Given the description of an element on the screen output the (x, y) to click on. 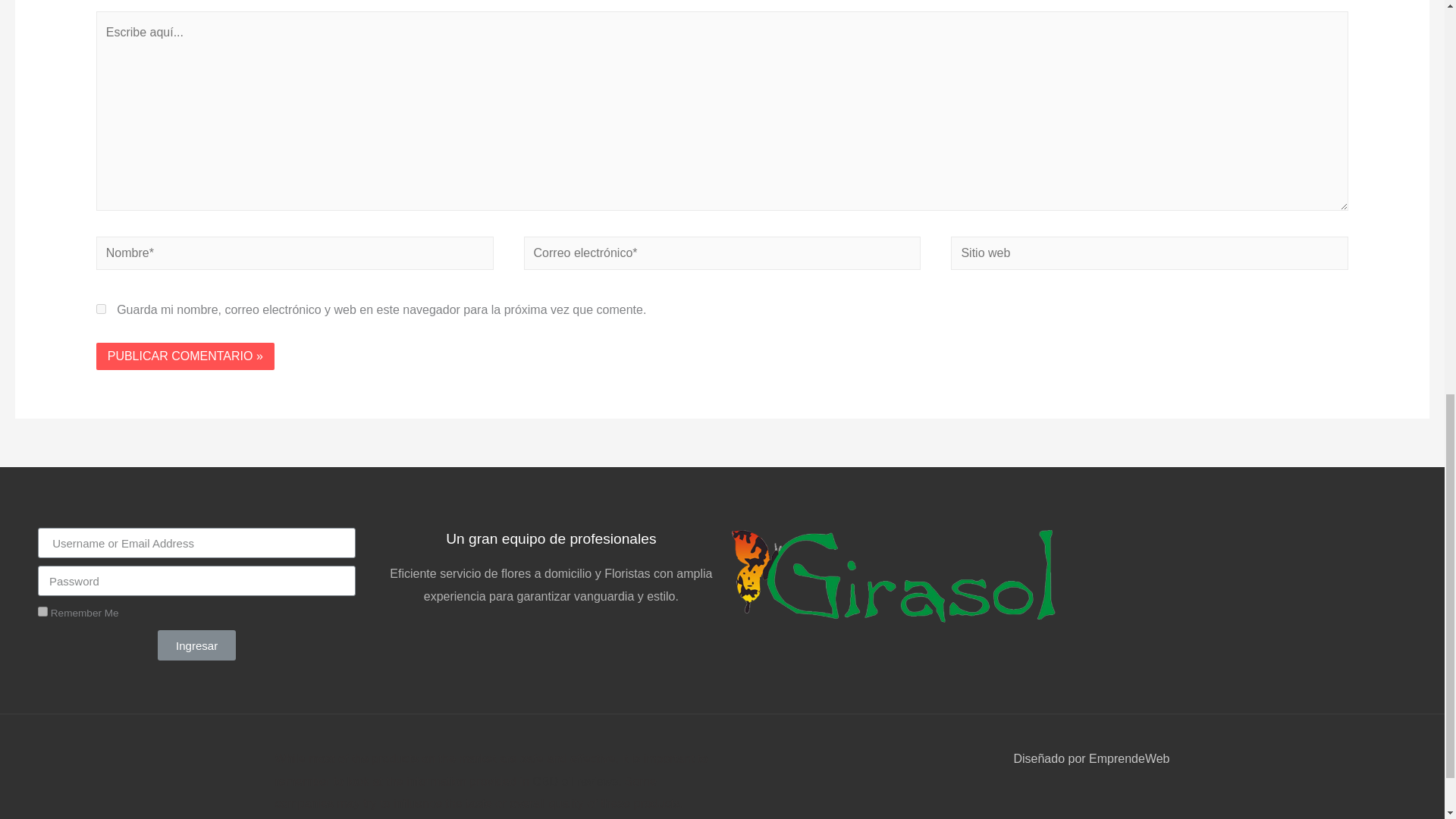
yes (101, 308)
forever (42, 611)
Ingresar (196, 644)
CBD oil reviews (574, 780)
